Given the description of an element on the screen output the (x, y) to click on. 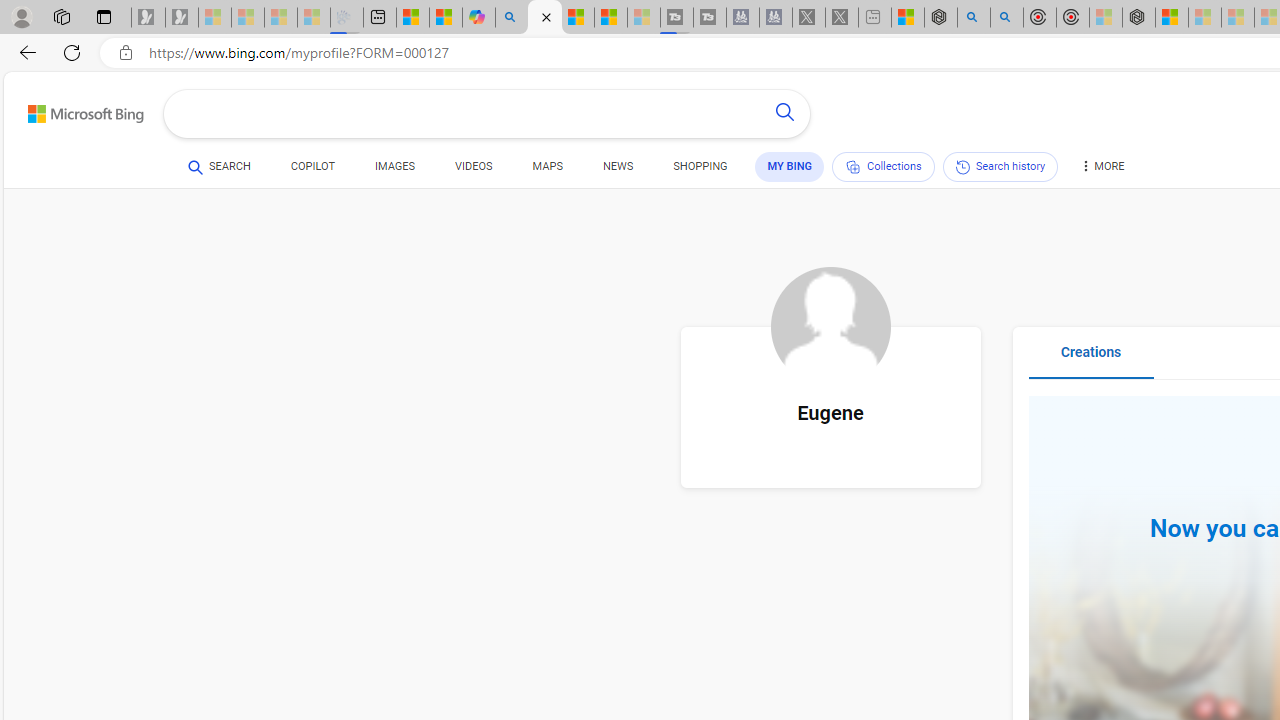
NEWS (618, 166)
COPILOT (311, 169)
MY BING (789, 166)
To get missing image descriptions, open the context menu. (830, 327)
poe ++ standard - Search (1006, 17)
Dropdown Menu (1101, 166)
Nordace - Nordace Siena Is Not An Ordinary Backpack (1138, 17)
